Given the description of an element on the screen output the (x, y) to click on. 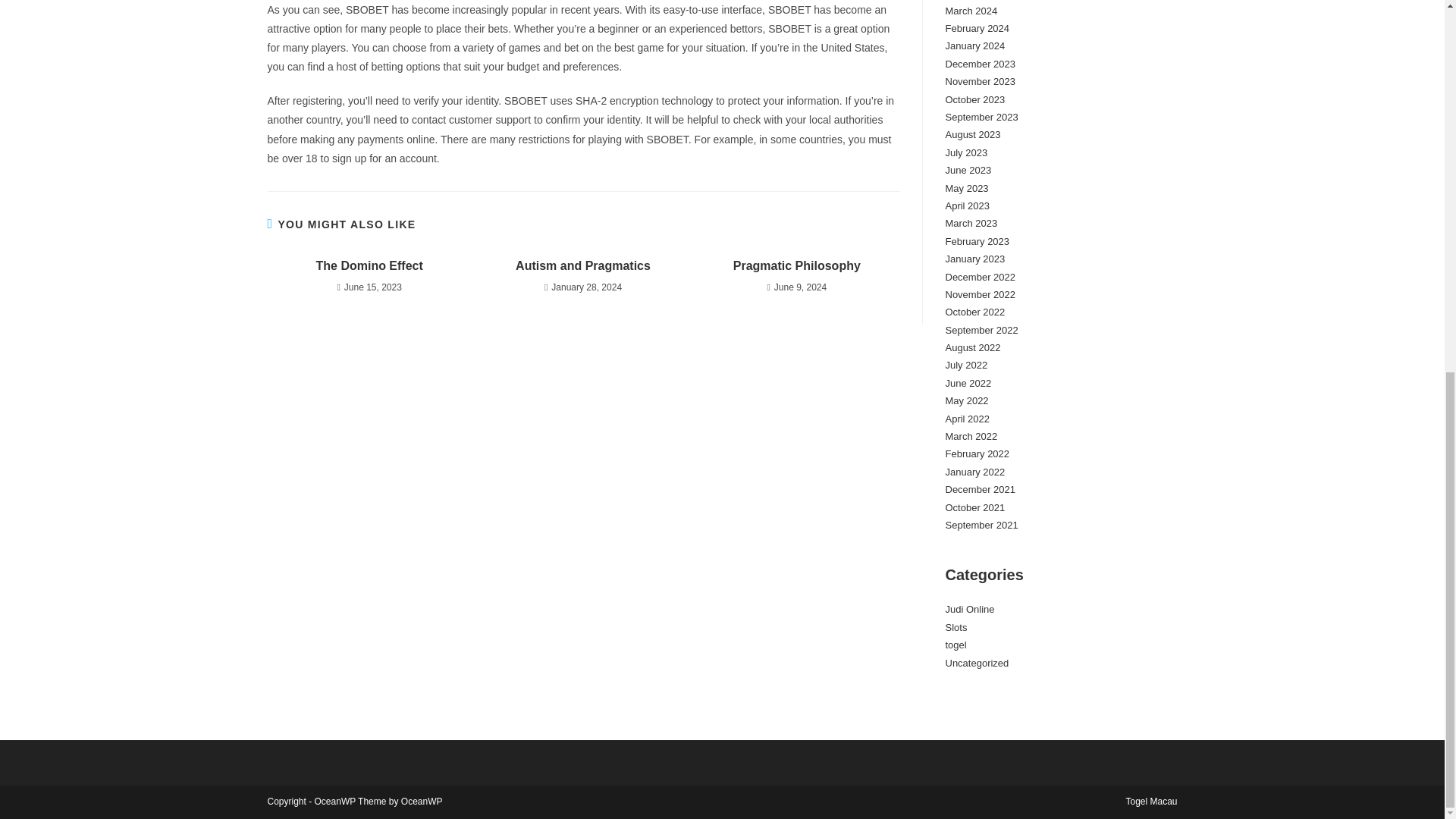
November 2023 (979, 81)
July 2023 (965, 152)
September 2023 (980, 116)
Autism and Pragmatics (582, 265)
October 2023 (974, 99)
May 2023 (966, 188)
January 2024 (974, 45)
August 2023 (972, 134)
June 2023 (967, 170)
December 2023 (979, 63)
The Domino Effect (368, 265)
February 2024 (976, 28)
March 2024 (970, 10)
Pragmatic Philosophy (796, 265)
